Given the description of an element on the screen output the (x, y) to click on. 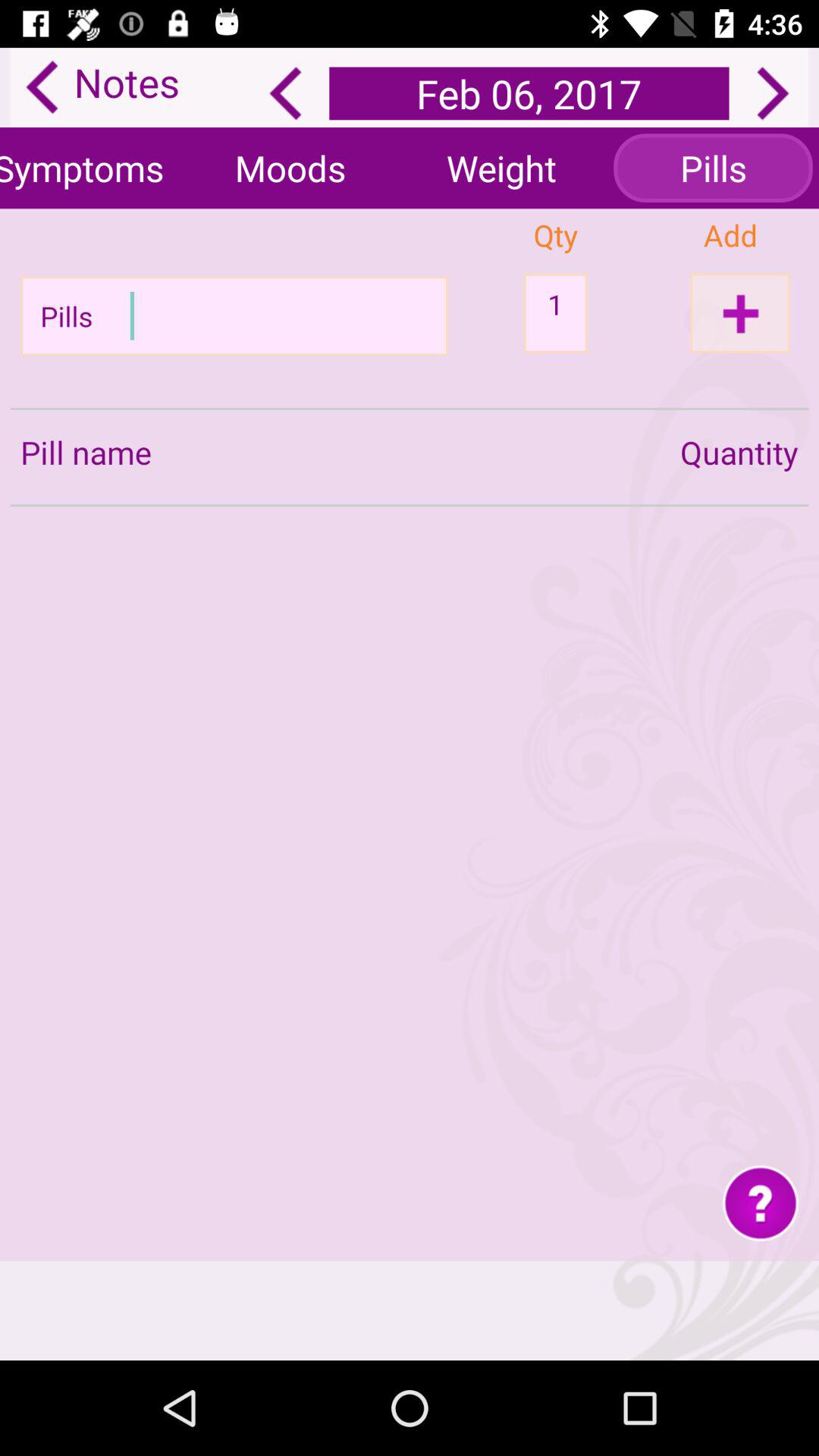
change date (772, 93)
